Given the description of an element on the screen output the (x, y) to click on. 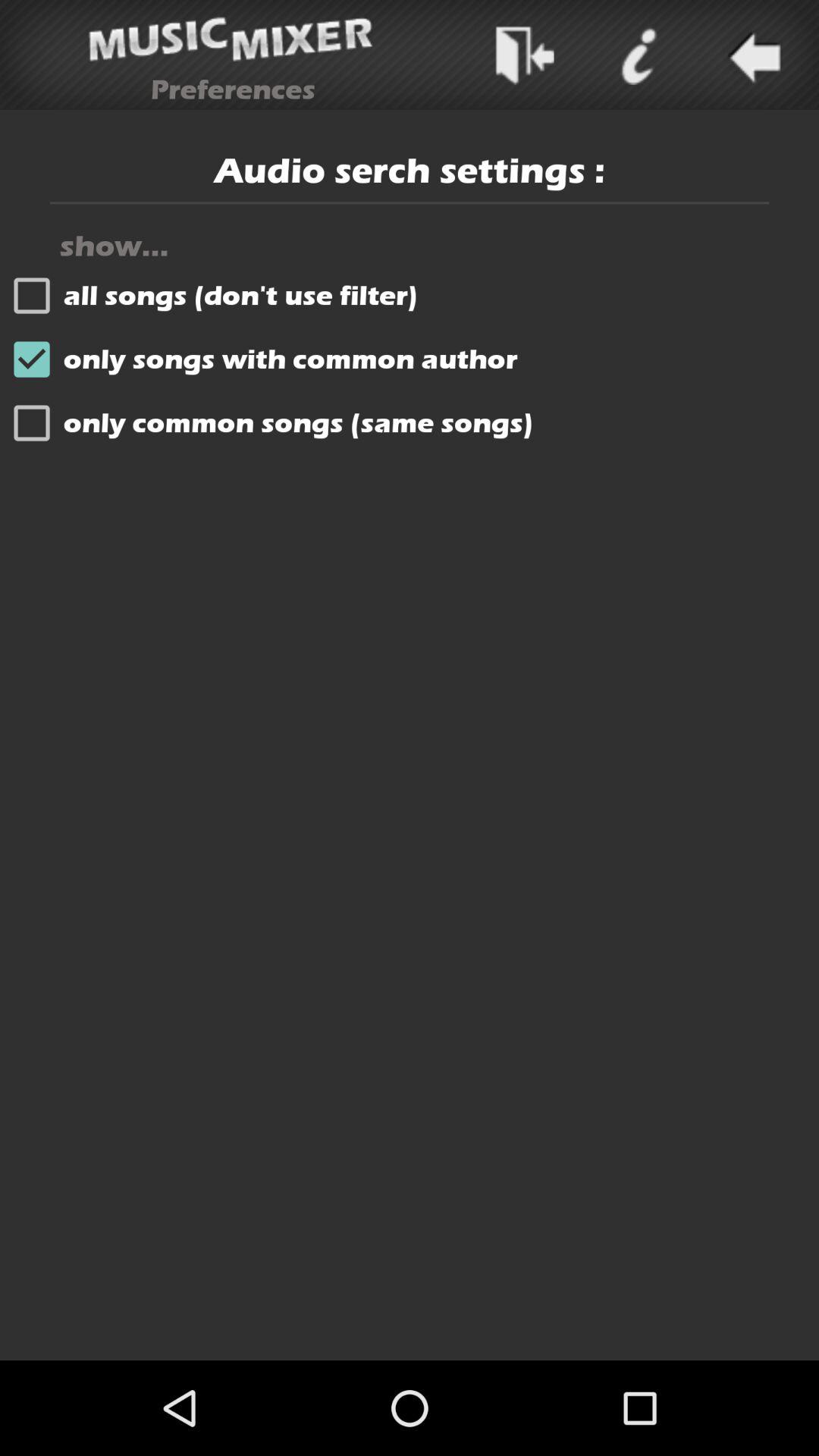
messege sending the option (523, 54)
